Given the description of an element on the screen output the (x, y) to click on. 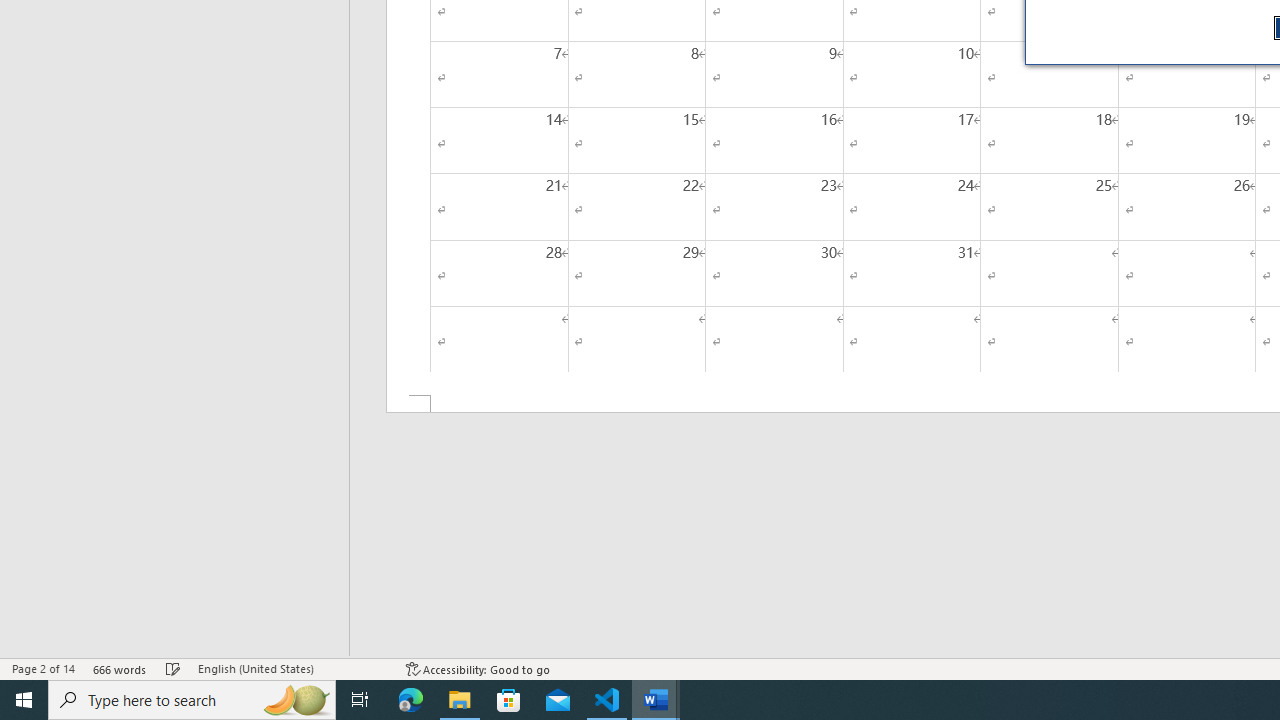
Type here to search (191, 699)
